Given the description of an element on the screen output the (x, y) to click on. 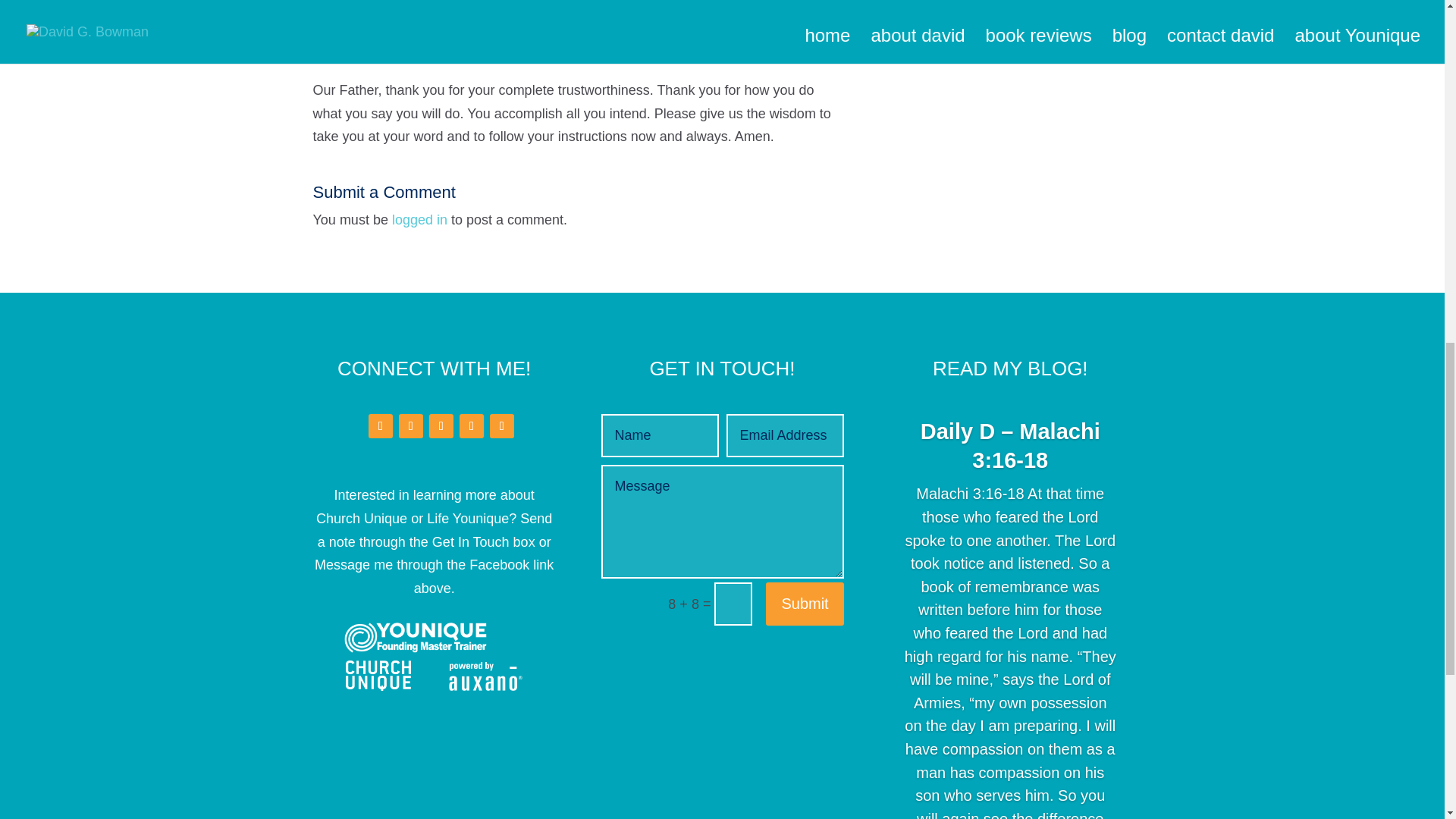
Follow on Pinterest (501, 426)
Follow on Facebook (380, 426)
Follow on Instagram (471, 426)
logged in (418, 219)
Follow on Twitter (410, 426)
Follow on LinkedIn (440, 426)
Submit (804, 603)
